Given the description of an element on the screen output the (x, y) to click on. 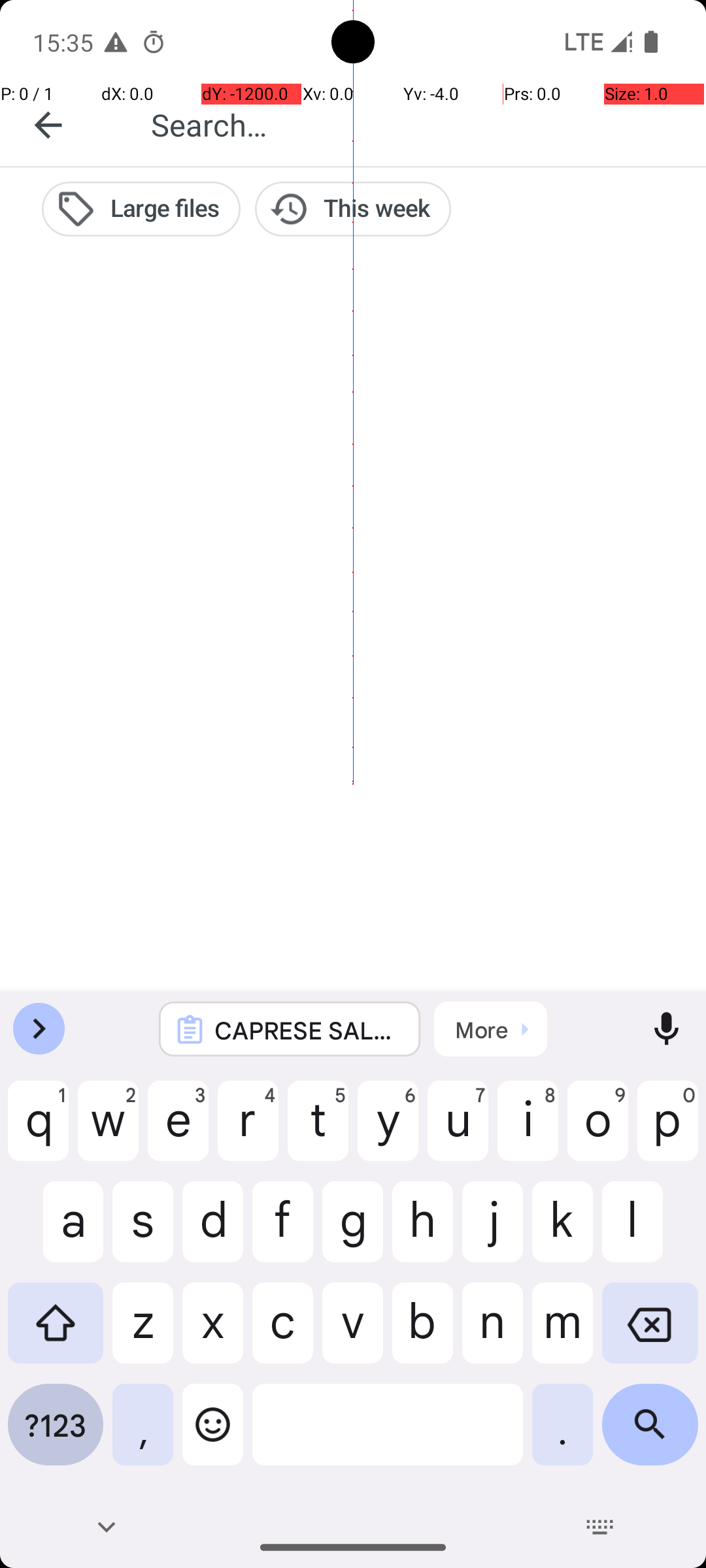
CAPRESE SALAD SKEWERS  Servings: 1 serving Time: 45 mins  A quick and easy meal, perfect for busy weekdays.  Ingredients: - n/a  Directions: 1. Thread cherry tomatoes, basil leaves, and mozzarella balls onto skewers. Drizzle with balsamic glaze. Feel free to substitute with ingredients you have on hand.  Shared with https://play.google.com/store/apps/details?id=com.flauschcode.broccoli Element type: android.widget.TextView (306, 1029)
